Given the description of an element on the screen output the (x, y) to click on. 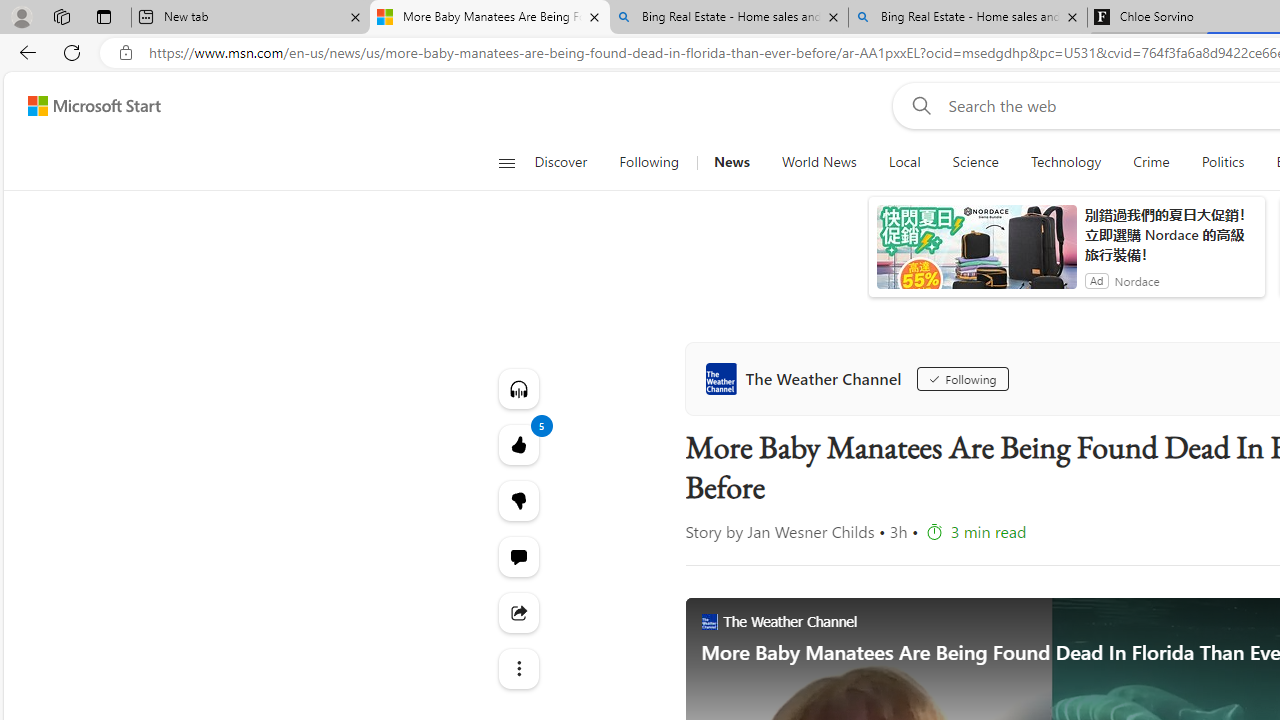
Following (962, 378)
Following (648, 162)
Discover (568, 162)
Technology (1066, 162)
Share this story (517, 612)
Technology (1065, 162)
Listen to this article (517, 388)
Science (975, 162)
World News (818, 162)
Politics (1222, 162)
Web search (917, 105)
Bing Real Estate - Home sales and rental listings (967, 17)
Skip to content (86, 105)
